Given the description of an element on the screen output the (x, y) to click on. 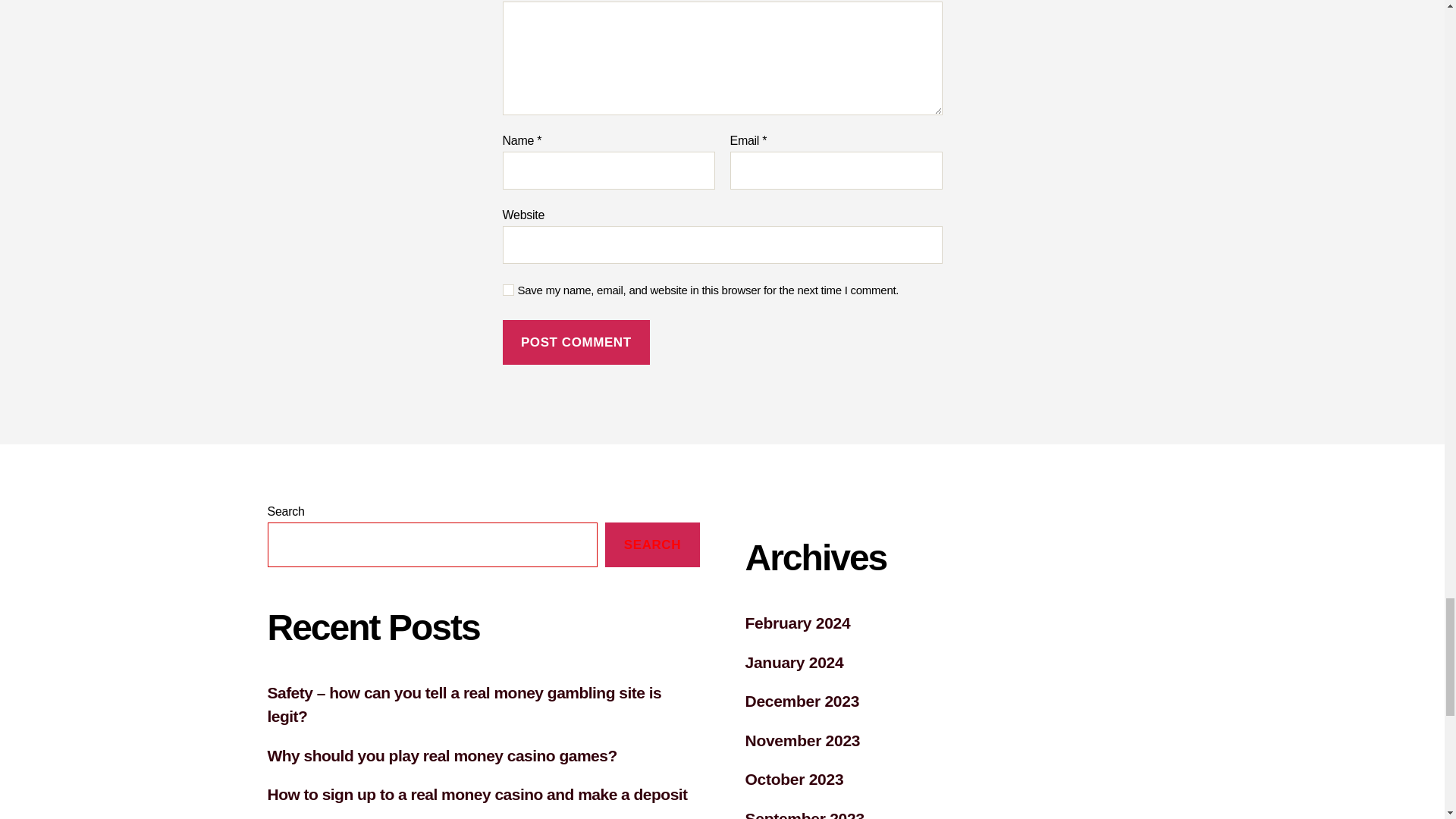
November 2023 (802, 740)
September 2023 (803, 814)
October 2023 (793, 778)
February 2024 (797, 622)
December 2023 (801, 701)
Post Comment (575, 342)
Why should you play real money casino games? (440, 755)
Post Comment (575, 342)
yes (507, 289)
How to sign up to a real money casino and make a deposit (476, 794)
SEARCH (651, 544)
January 2024 (793, 661)
